Given the description of an element on the screen output the (x, y) to click on. 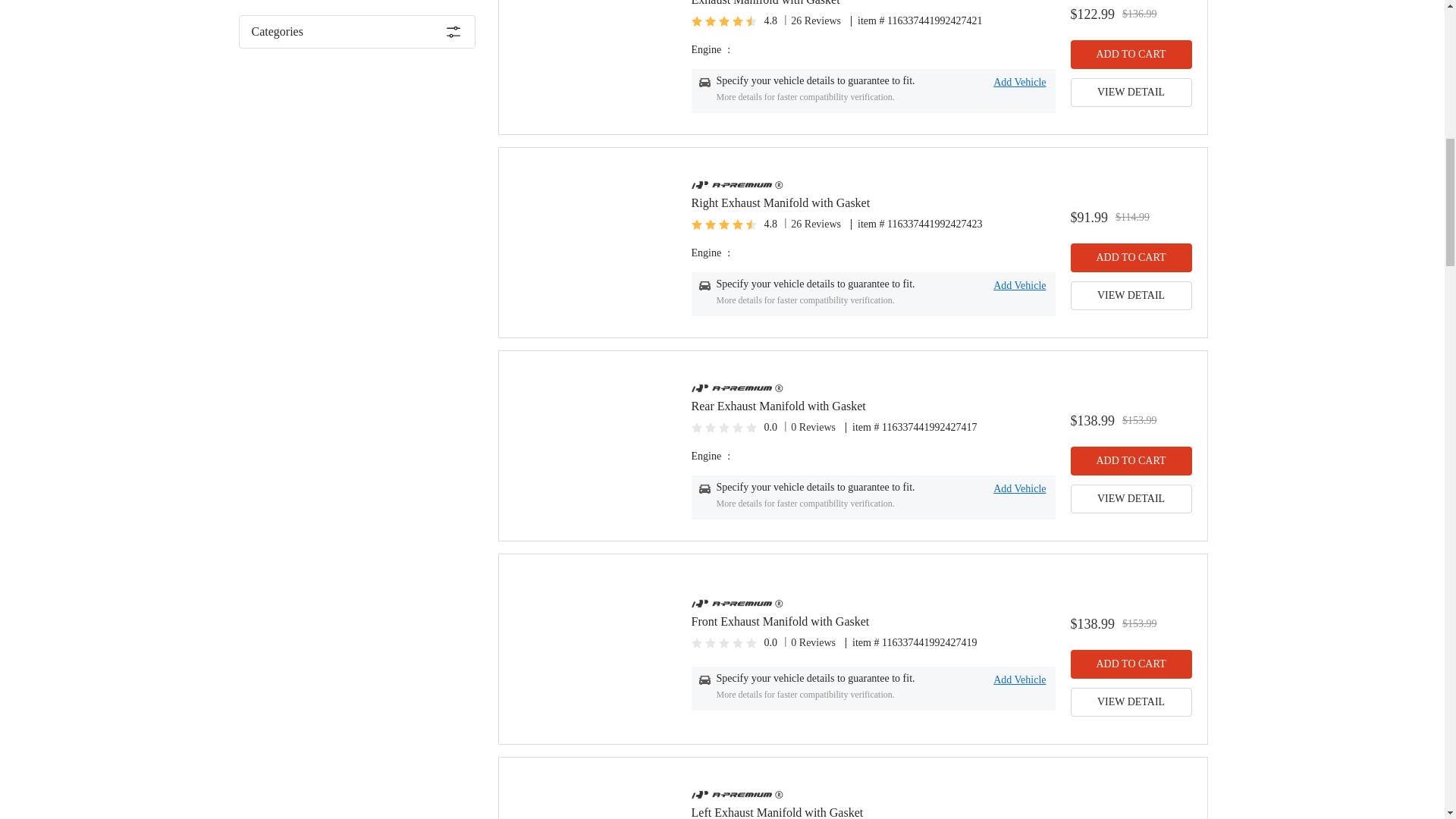
Left Exhaust Manifold with Gasket (873, 810)
Front Exhaust Manifold with Gasket (873, 619)
Exhaust Manifold with Gasket (873, 3)
Right Exhaust Manifold with Gasket (873, 202)
Left Exhaust Manifold with Gasket (873, 812)
Rear Exhaust Manifold with Gasket (873, 406)
ADD TO CART (1131, 257)
Right Exhaust Manifold with Gasket (873, 200)
Front Exhaust Manifold with Gasket (873, 621)
ADD TO CART (1131, 664)
VIEW DETAIL (1131, 701)
ADD TO CART (1131, 54)
VIEW DETAIL (1131, 498)
VIEW DETAIL (1131, 295)
Rear Exhaust Manifold with Gasket (873, 403)
